Given the description of an element on the screen output the (x, y) to click on. 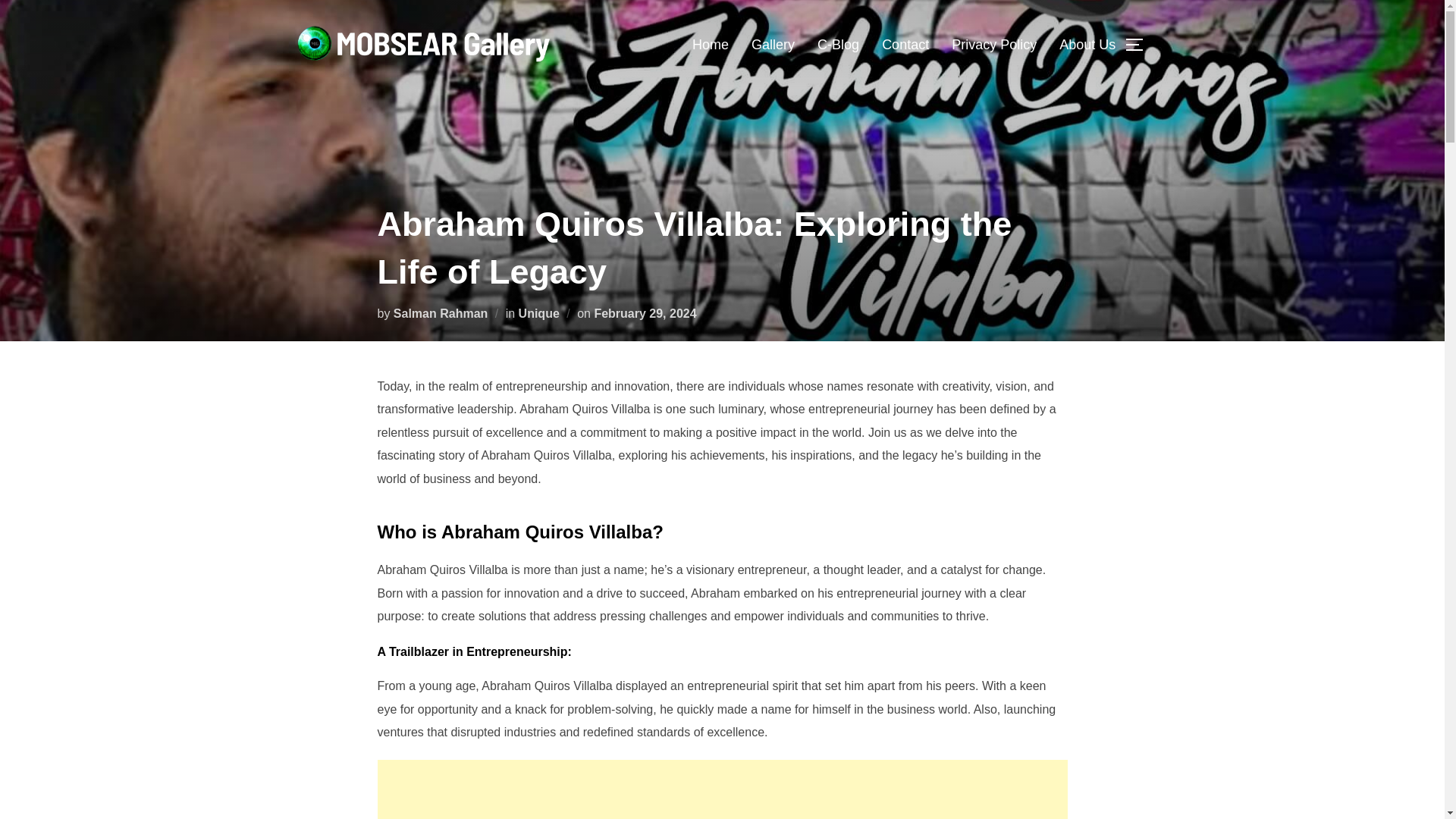
February 29, 2024 (644, 312)
Salman Rahman (440, 312)
Unique (538, 312)
Privacy Policy (994, 44)
Contact (905, 44)
Advertisement (722, 789)
Gallery (772, 44)
Home (711, 44)
About Us (1087, 44)
C-Blog (837, 44)
